Given the description of an element on the screen output the (x, y) to click on. 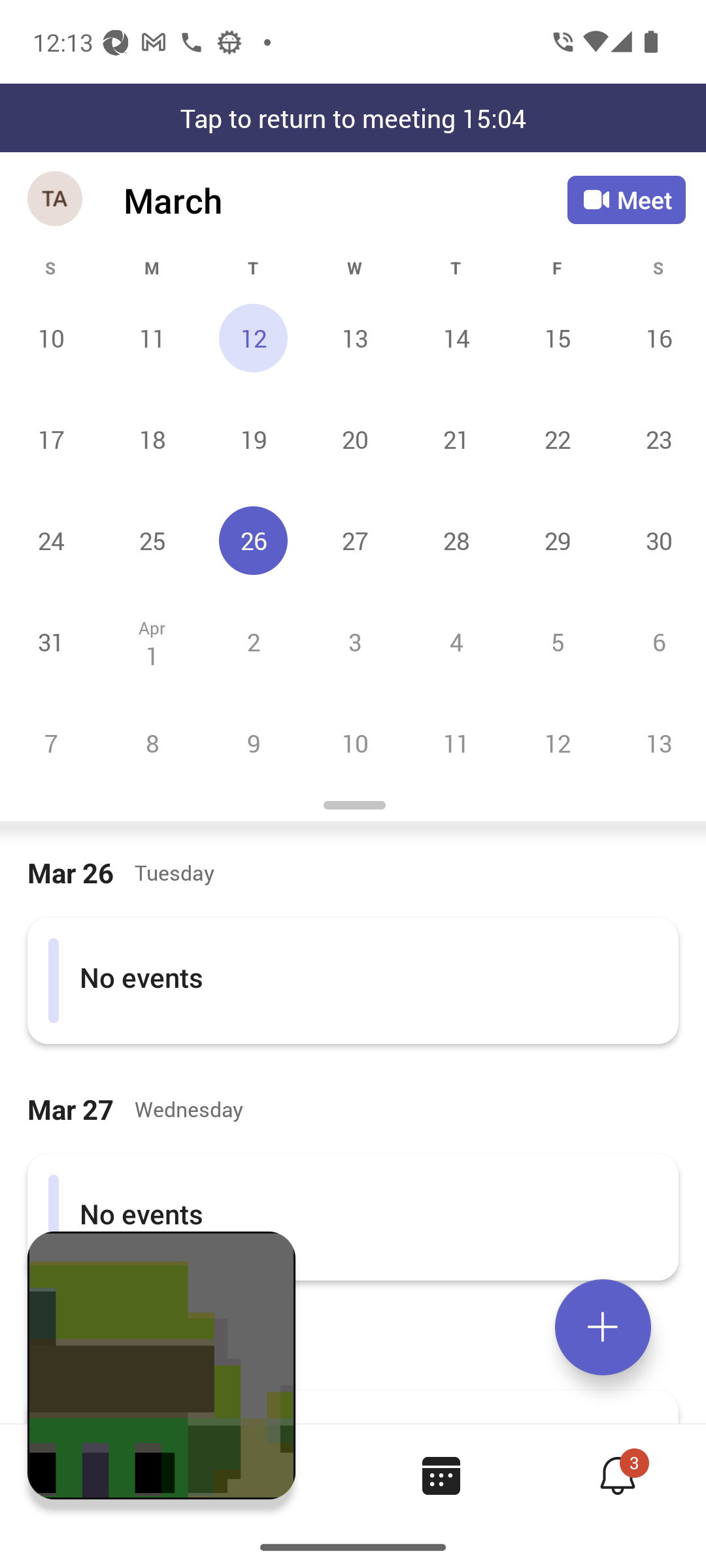
Tap to return to meeting 15:04 (353, 117)
Navigation (56, 199)
Meet Meet now or join with an ID (626, 199)
March March Calendar Agenda View (345, 199)
Sunday, March 10 10 (50, 337)
Monday, March 11 11 (151, 337)
Tuesday, March 12, Today 12 (253, 337)
Wednesday, March 13 13 (354, 337)
Thursday, March 14 14 (455, 337)
Friday, March 15 15 (556, 337)
Saturday, March 16 16 (656, 337)
Sunday, March 17 17 (50, 438)
Monday, March 18 18 (151, 438)
Tuesday, March 19 19 (253, 438)
Wednesday, March 20 20 (354, 438)
Thursday, March 21 21 (455, 438)
Friday, March 22 22 (556, 438)
Saturday, March 23 23 (656, 438)
Sunday, March 24 24 (50, 540)
Monday, March 25 25 (151, 540)
Tuesday, March 26, Selected 26 (253, 540)
Wednesday, March 27 27 (354, 540)
Thursday, March 28 28 (455, 540)
Friday, March 29 29 (556, 540)
Saturday, March 30 30 (656, 540)
Sunday, March 31 31 (50, 642)
Monday, April 1 Apr 1 (151, 642)
Tuesday, April 2 2 (253, 642)
Wednesday, April 3 3 (354, 642)
Thursday, April 4 4 (455, 642)
Friday, April 5 5 (556, 642)
Saturday, April 6 6 (656, 642)
Sunday, April 7 7 (50, 743)
Monday, April 8 8 (151, 743)
Tuesday, April 9 9 (253, 743)
Wednesday, April 10 10 (354, 743)
Thursday, April 11 11 (455, 743)
Friday, April 12 12 (556, 743)
Saturday, April 13 13 (656, 743)
Expand meetings menu (602, 1327)
Calendar tab, 3 of 4 (441, 1475)
Activity tab,4 of 4, not selected, 3 new 3 (617, 1475)
